Given the description of an element on the screen output the (x, y) to click on. 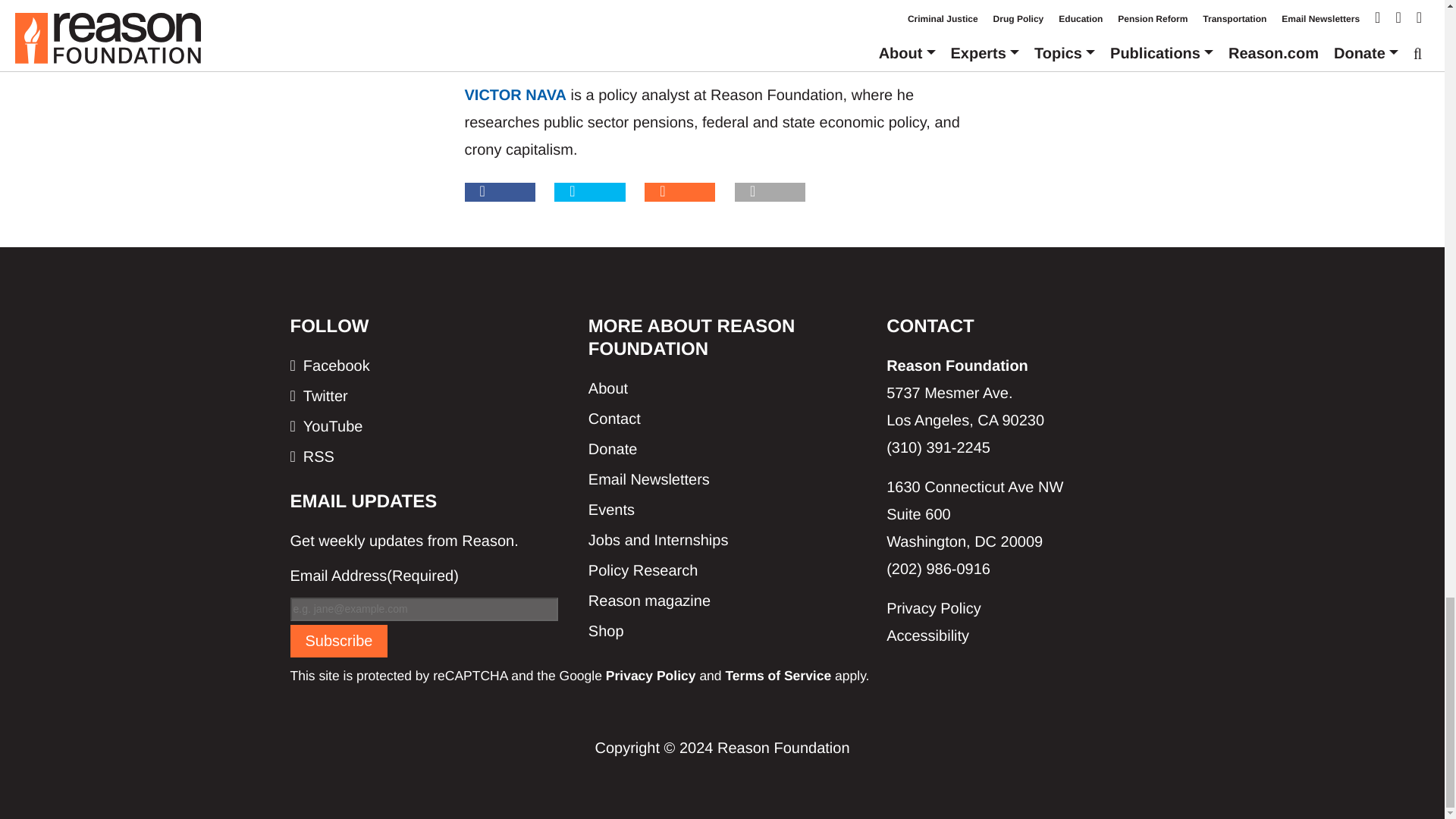
Subscribe (338, 640)
